Given the description of an element on the screen output the (x, y) to click on. 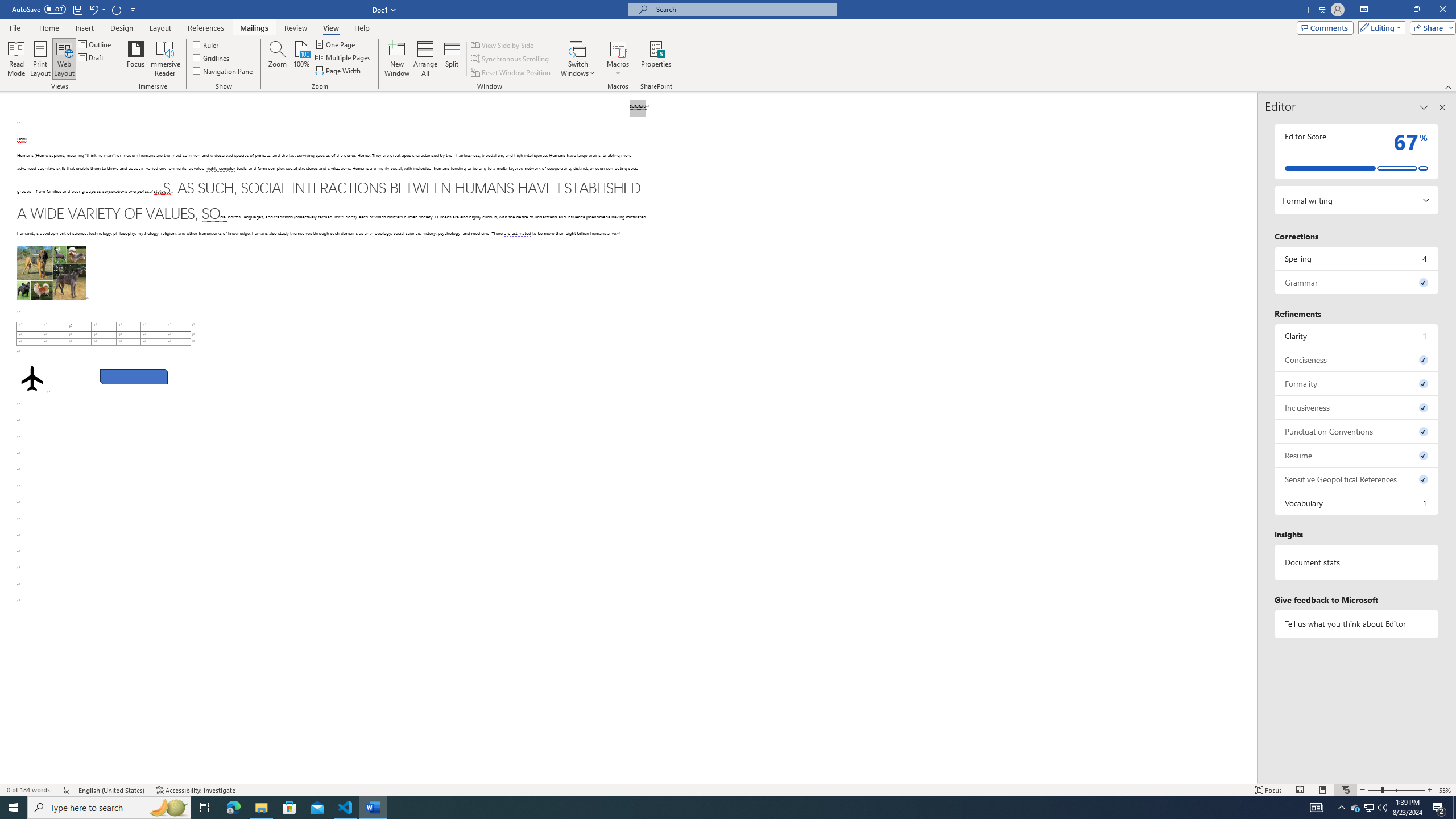
View Macros (617, 48)
Arrange All (425, 58)
Spelling, 4 issues. Press space or enter to review items. (1356, 258)
Zoom 55% (1445, 790)
100% (301, 58)
Gridlines (211, 56)
